Given the description of an element on the screen output the (x, y) to click on. 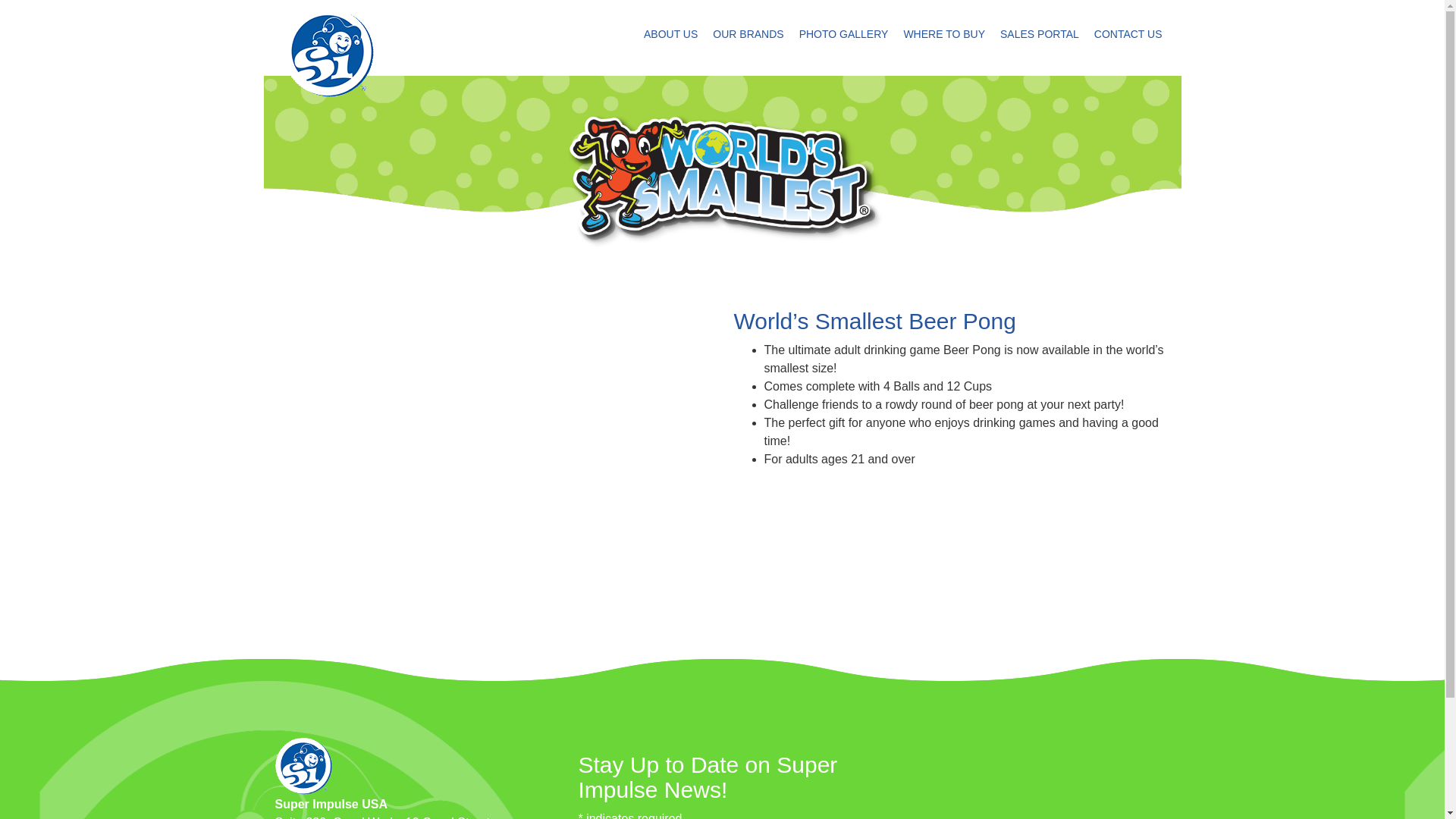
WHERE TO BUY (943, 33)
SALES PORTAL (1039, 33)
ABOUT US (670, 33)
OUR BRANDS (747, 33)
PHOTO GALLERY (844, 33)
CONTACT US (1128, 33)
